Given the description of an element on the screen output the (x, y) to click on. 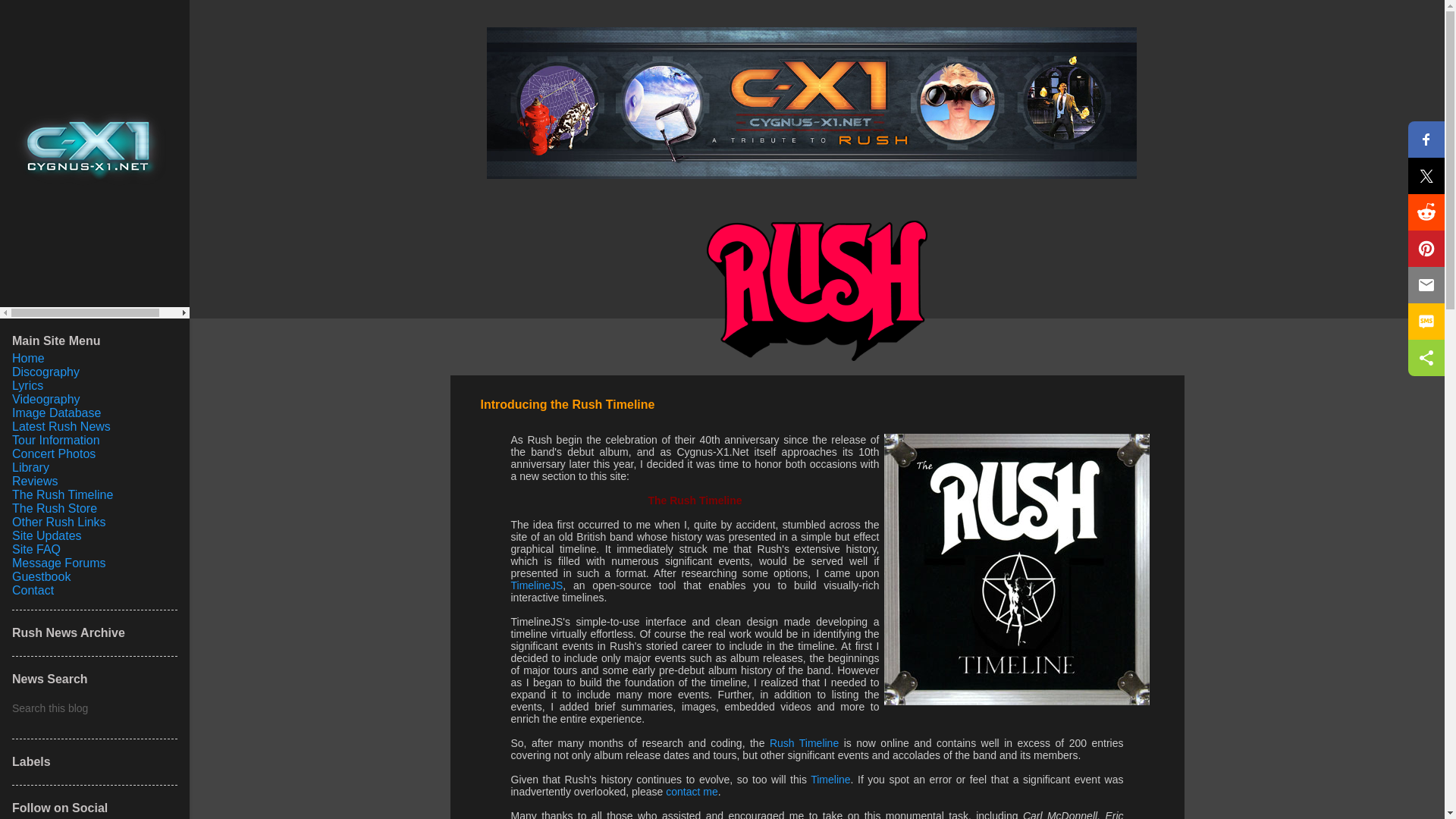
Timeline (830, 779)
TimelineJS (537, 585)
Rush Timeline (804, 743)
contact me (691, 791)
